Given the description of an element on the screen output the (x, y) to click on. 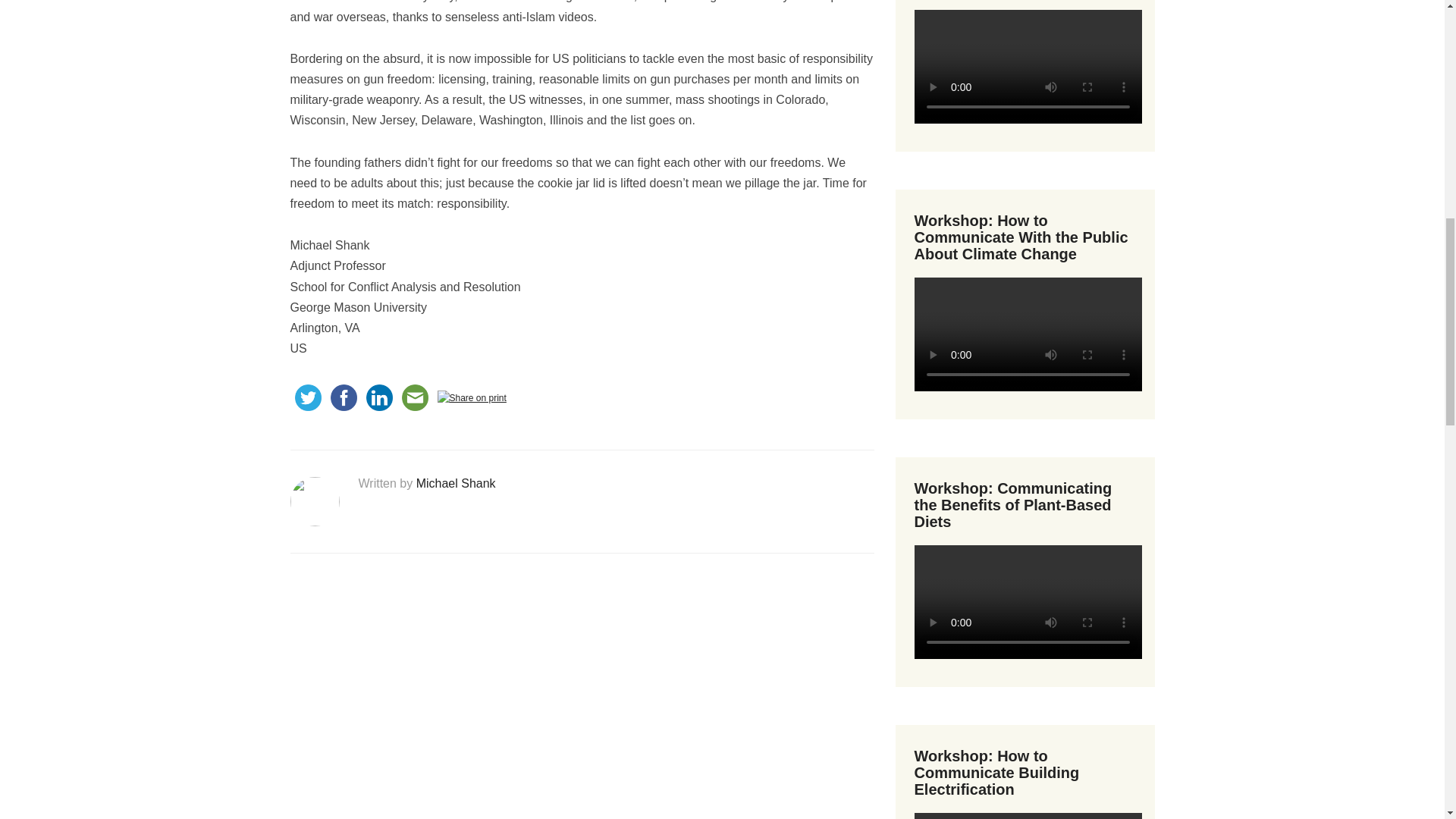
linkedin (378, 397)
email (414, 397)
facebook (343, 397)
Michael Shank (456, 482)
twitter (306, 397)
